Given the description of an element on the screen output the (x, y) to click on. 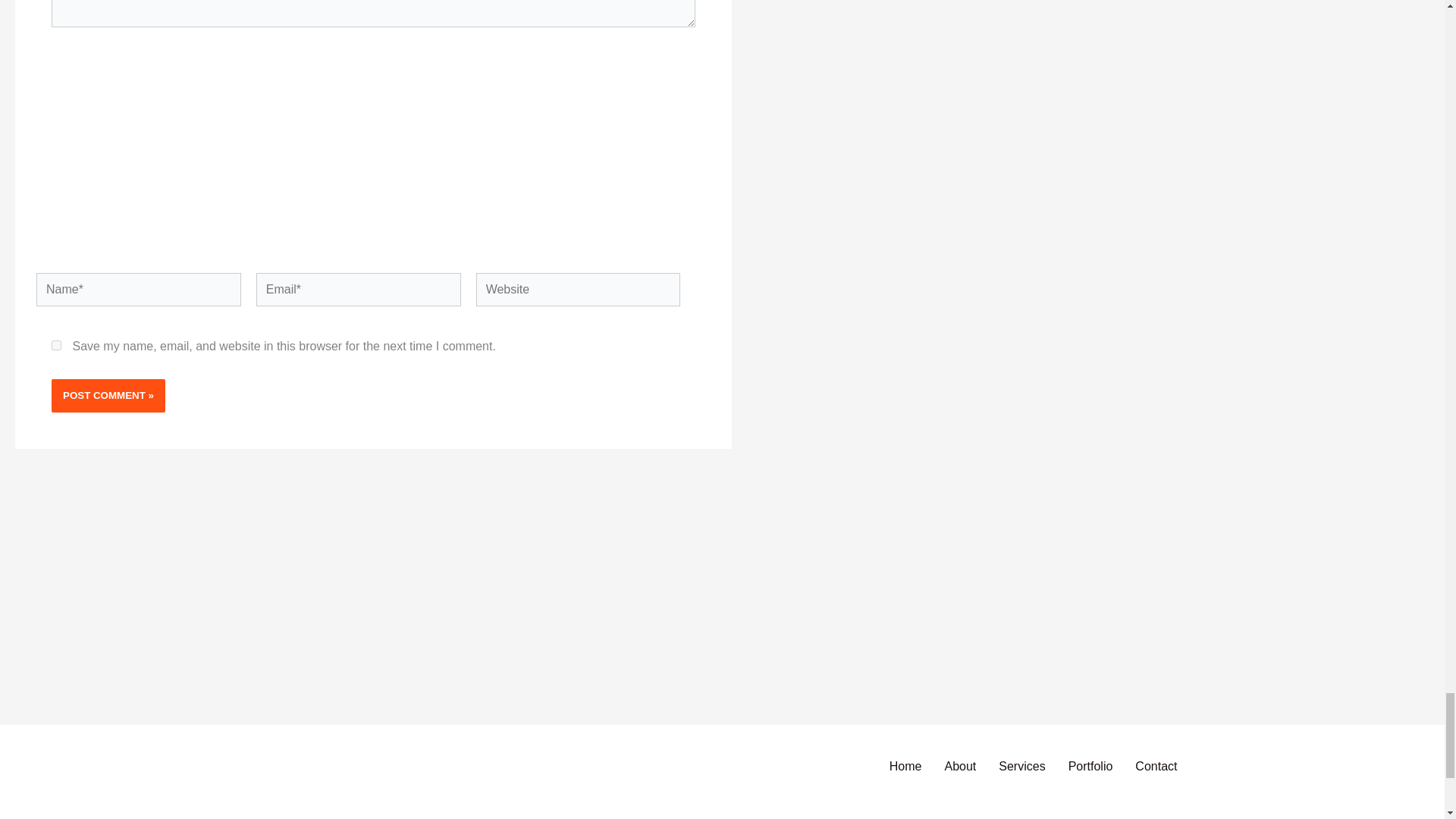
yes (55, 345)
